Given the description of an element on the screen output the (x, y) to click on. 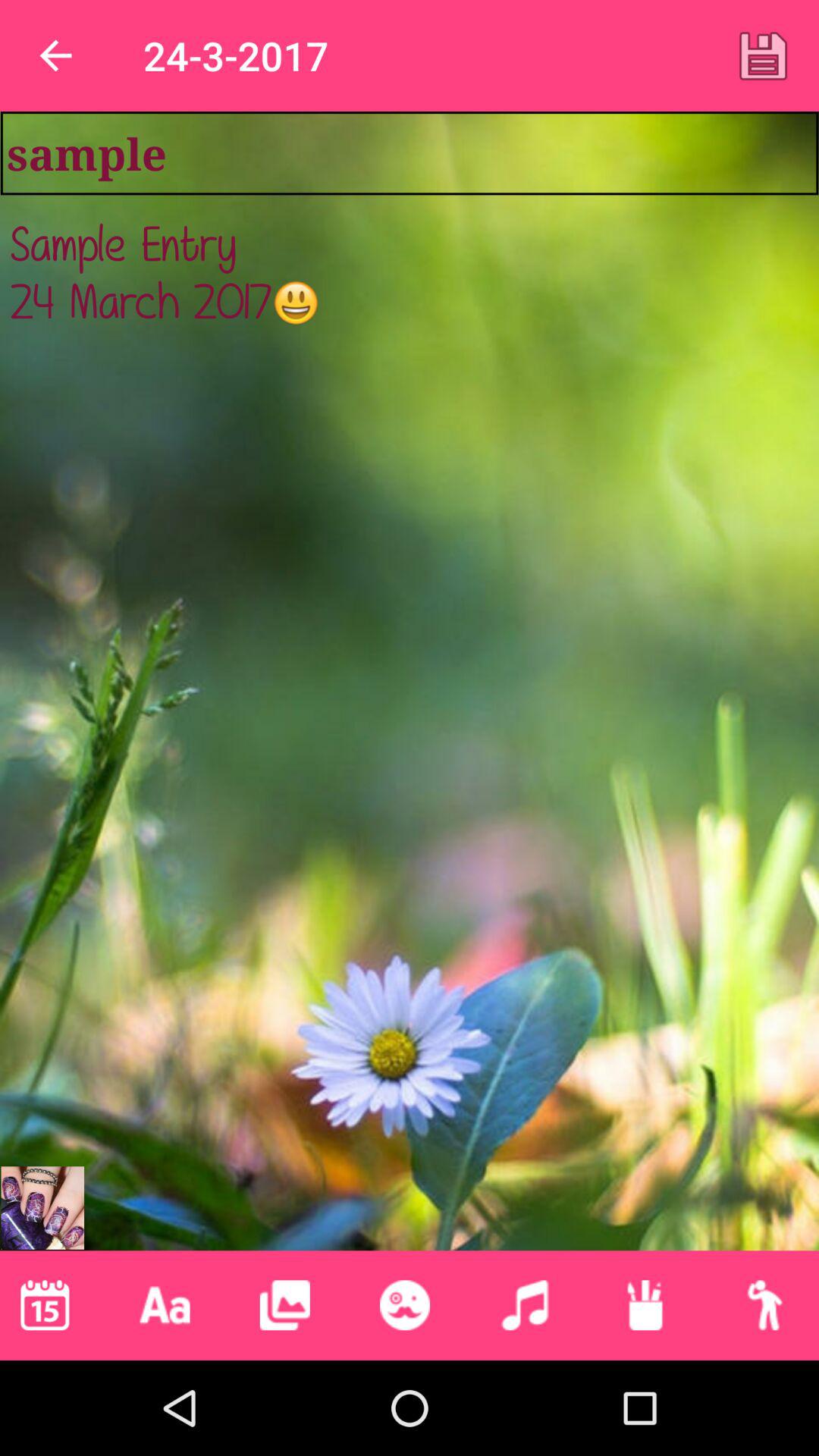
launch icon below the sample entry 24 (524, 1305)
